Given the description of an element on the screen output the (x, y) to click on. 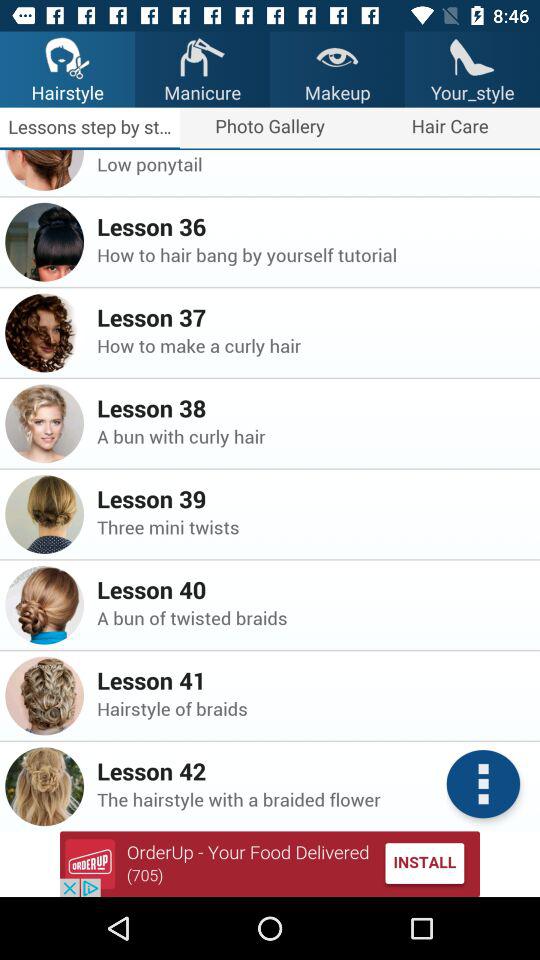
click app above the three mini twists item (311, 498)
